Given the description of an element on the screen output the (x, y) to click on. 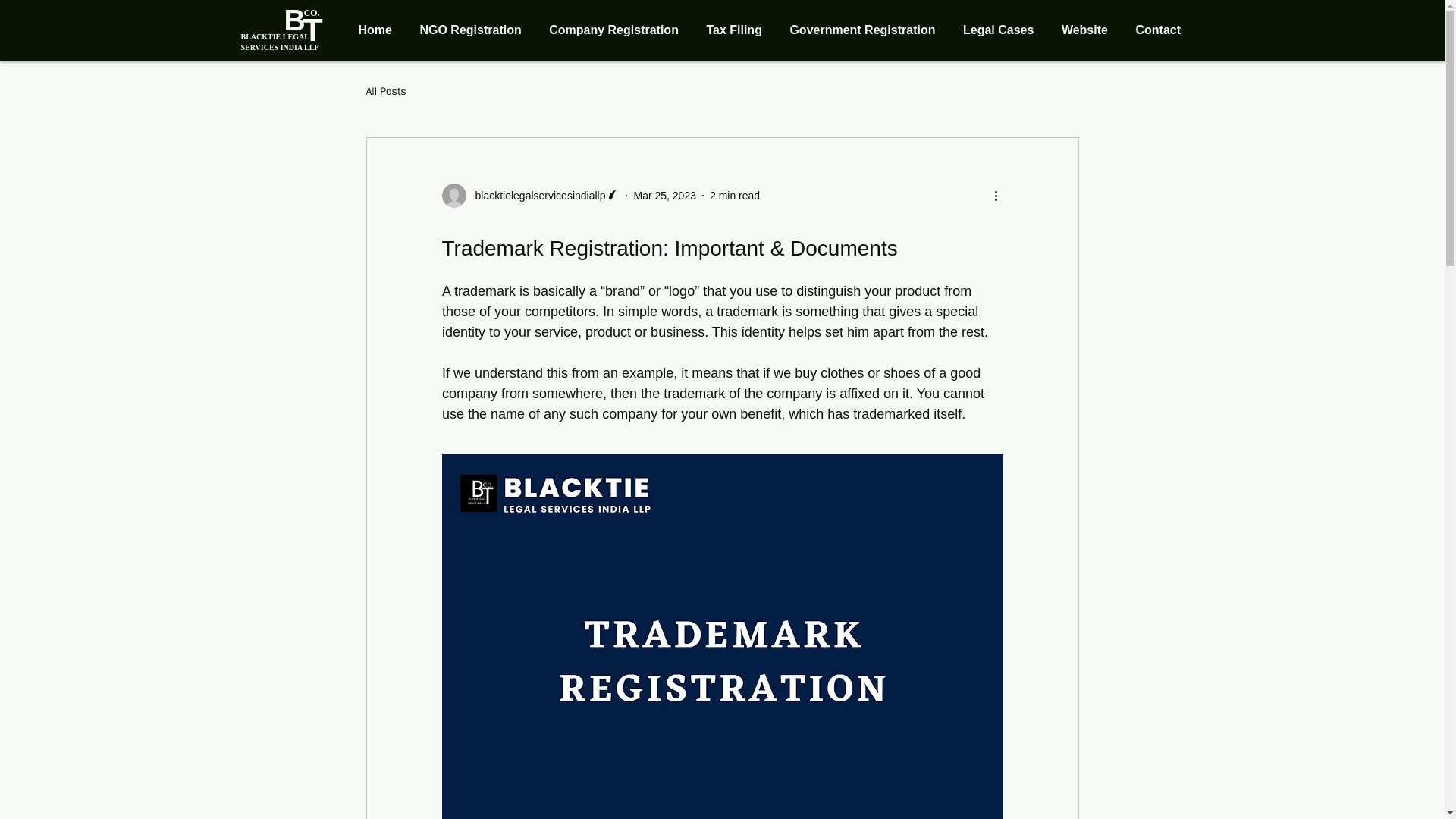
CO. (310, 12)
Government Registration (865, 29)
Home (378, 29)
Legal Cases (1002, 29)
Contact (1160, 29)
Tax Filing (737, 29)
NGO Registration (474, 29)
Website (1089, 29)
blacktielegalservicesindiallp (535, 195)
Company Registration (617, 29)
